Given the description of an element on the screen output the (x, y) to click on. 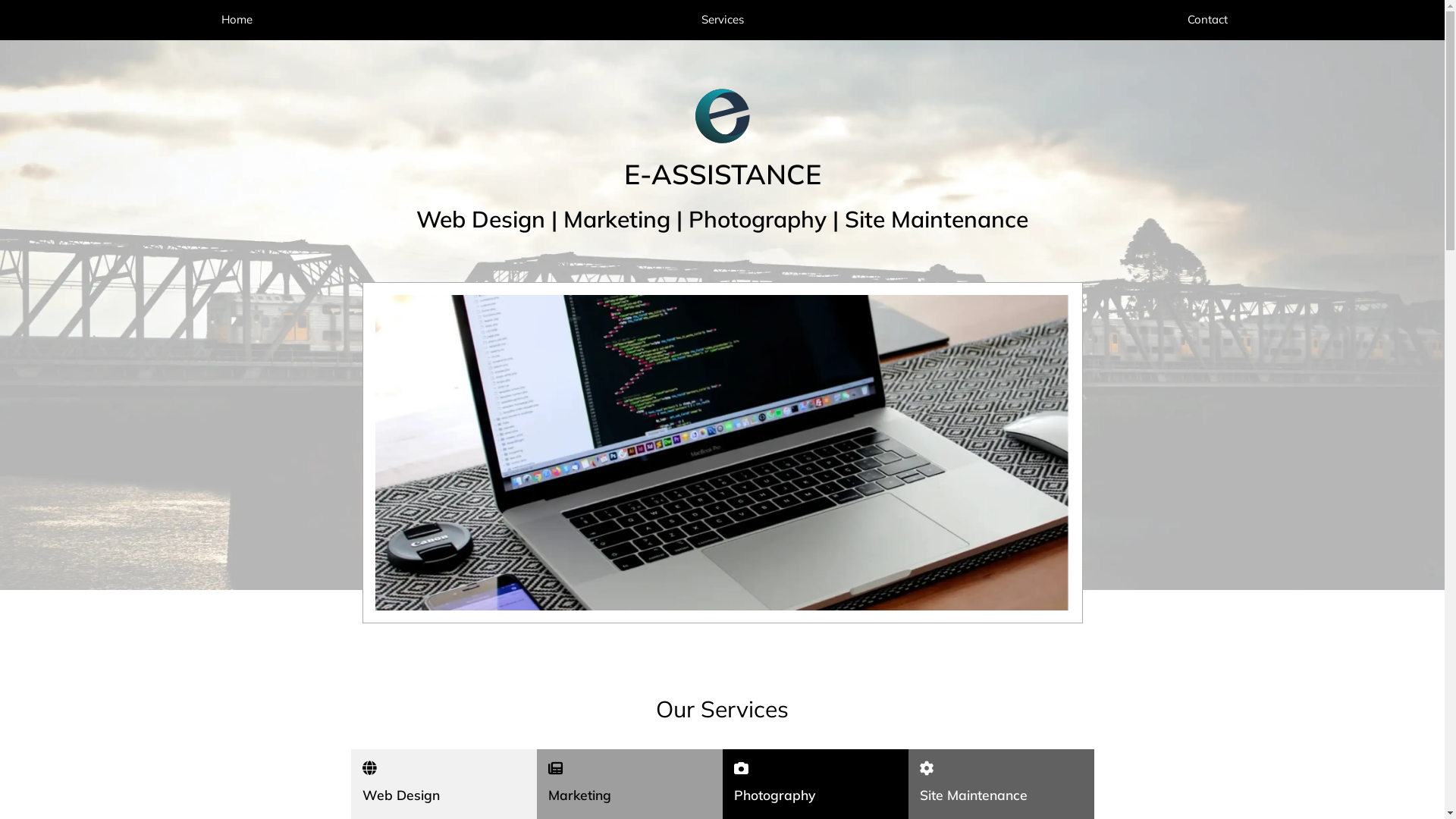
Services Element type: text (721, 19)
Contact Element type: text (1207, 19)
Home Element type: text (236, 19)
